Given the description of an element on the screen output the (x, y) to click on. 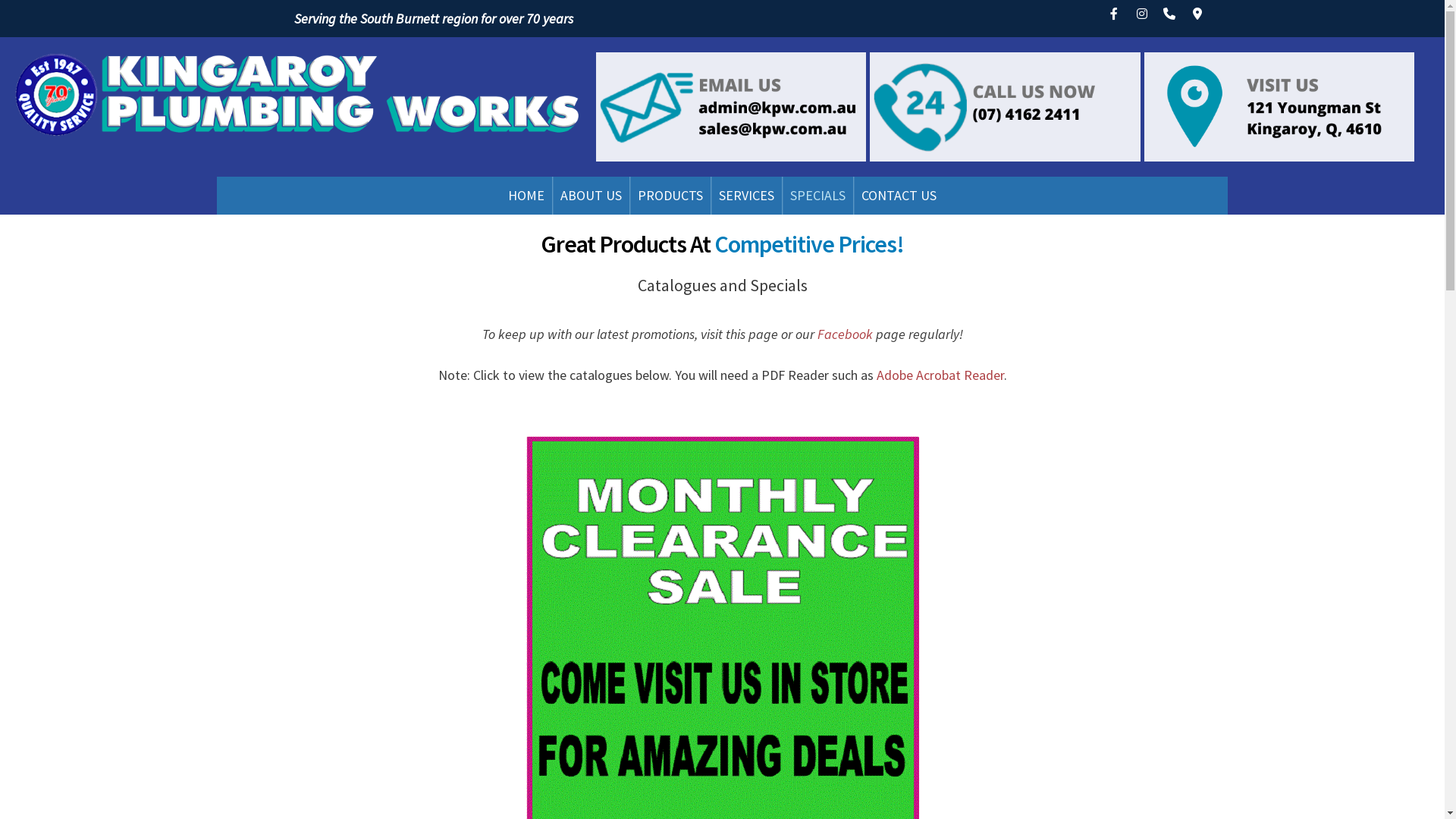
Facebook Element type: text (844, 333)
CONTACT US Element type: text (898, 195)
ABOUT US Element type: text (590, 195)
Adobe Acrobat Reader Element type: text (940, 374)
PRODUCTS Element type: text (670, 195)
Instagram Element type: hover (1141, 13)
SPECIALS Element type: text (817, 195)
(07)41622411 Element type: hover (1169, 13)
visitKPW Element type: hover (1279, 106)
121 Youngman Street, Kingaroy, Q, 4610 Element type: hover (1197, 13)
Facebook Element type: hover (1113, 13)
callKPW Element type: hover (1004, 106)
HOME Element type: text (526, 195)
SERVICES Element type: text (746, 195)
emailKPW Element type: hover (731, 106)
